Given the description of an element on the screen output the (x, y) to click on. 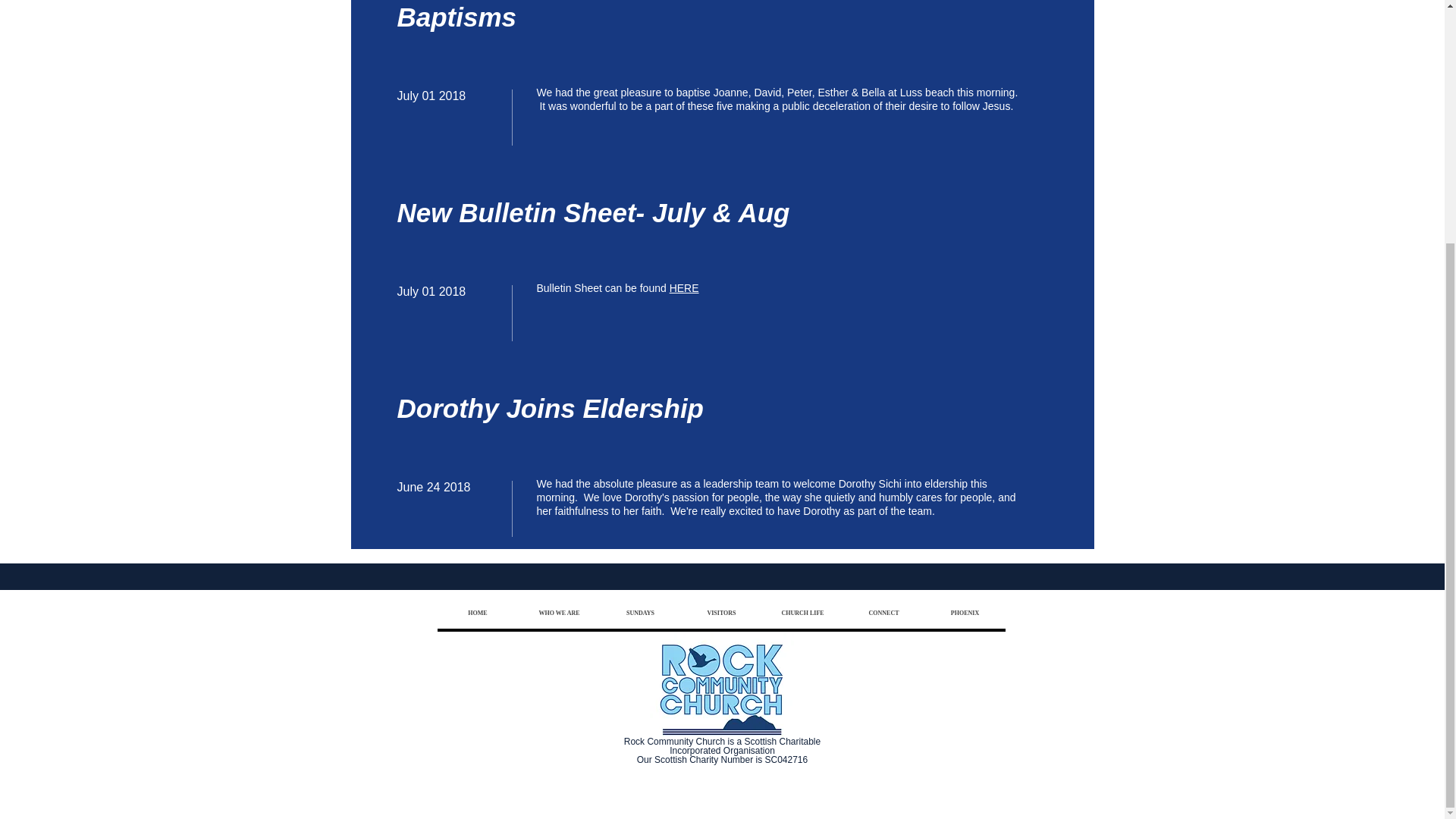
HERE (683, 287)
SUNDAYS (638, 612)
VISITORS (721, 612)
CHURCH LIFE (802, 612)
WHO WE ARE (558, 612)
HOME (477, 612)
CONNECT (883, 612)
PHOENIX (963, 612)
